Given the description of an element on the screen output the (x, y) to click on. 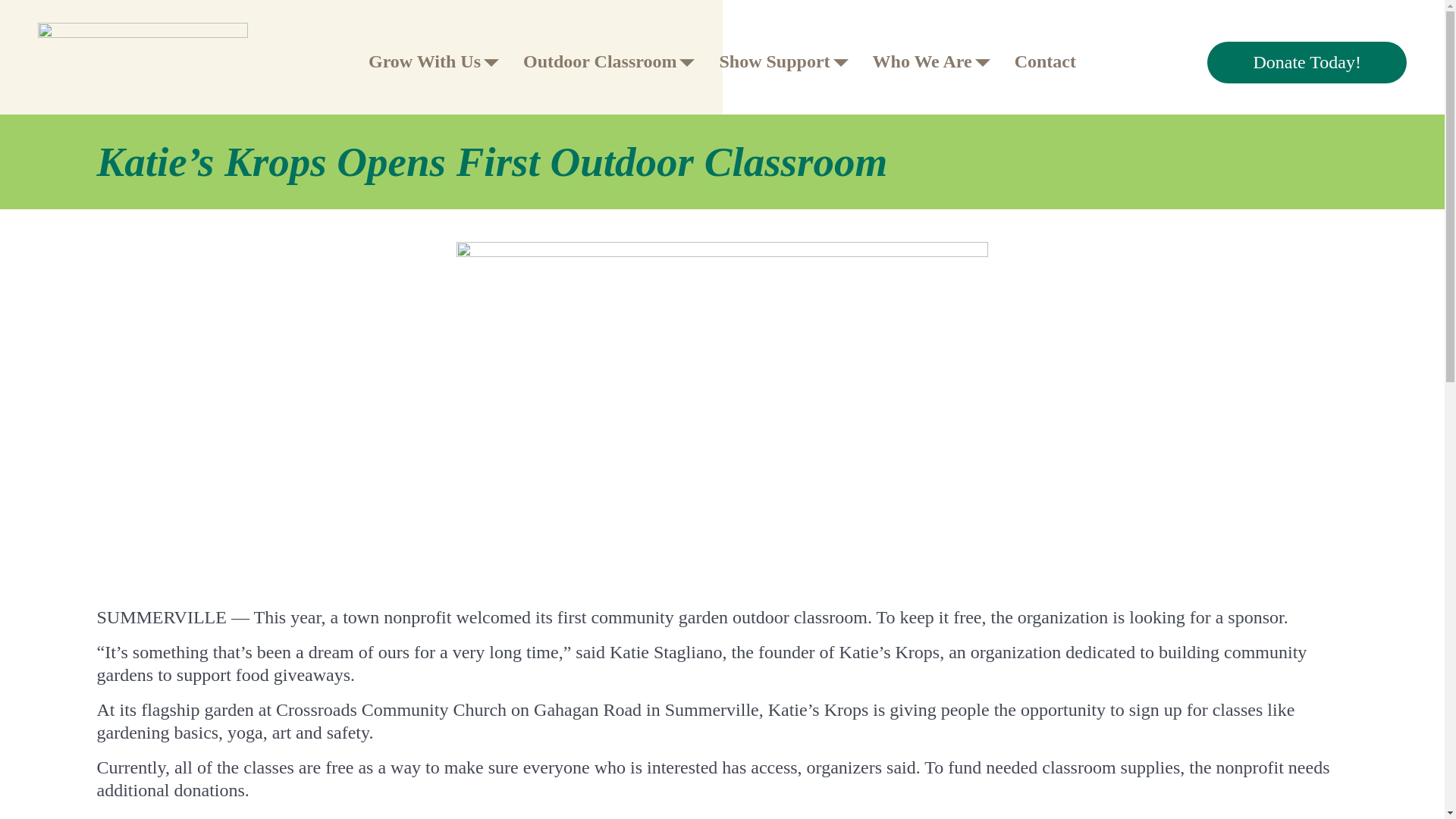
Outdoor Classroom (608, 60)
Contact (1044, 60)
Donate Today! (1306, 62)
